Given the description of an element on the screen output the (x, y) to click on. 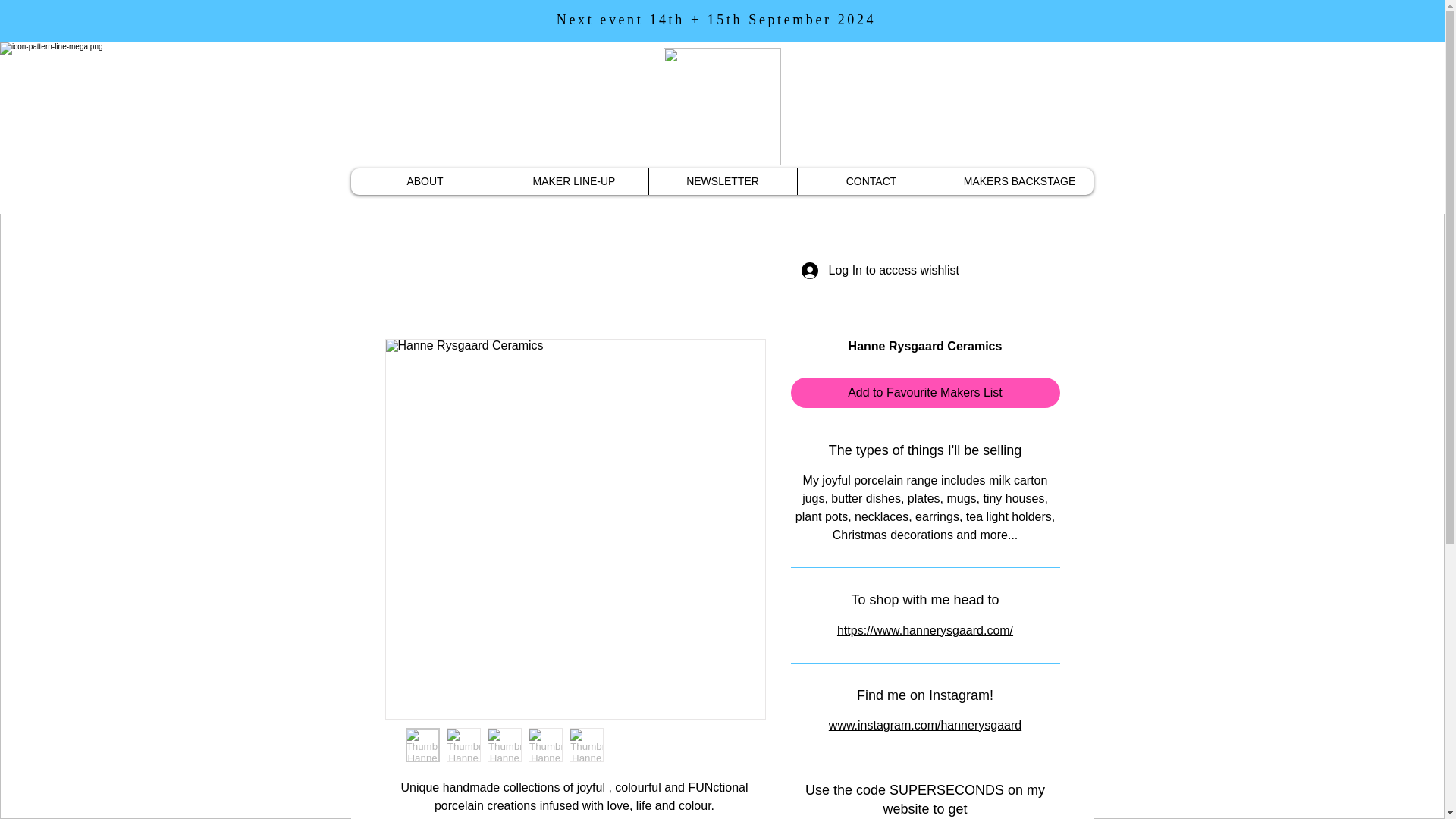
NEWSLETTER (721, 181)
MAKER LINE-UP (573, 181)
Add to Favourite Makers List (924, 392)
ABOUT (424, 181)
Log In to access wishlist (870, 270)
MAKERS BACKSTAGE (1018, 181)
CONTACT (870, 181)
